Given the description of an element on the screen output the (x, y) to click on. 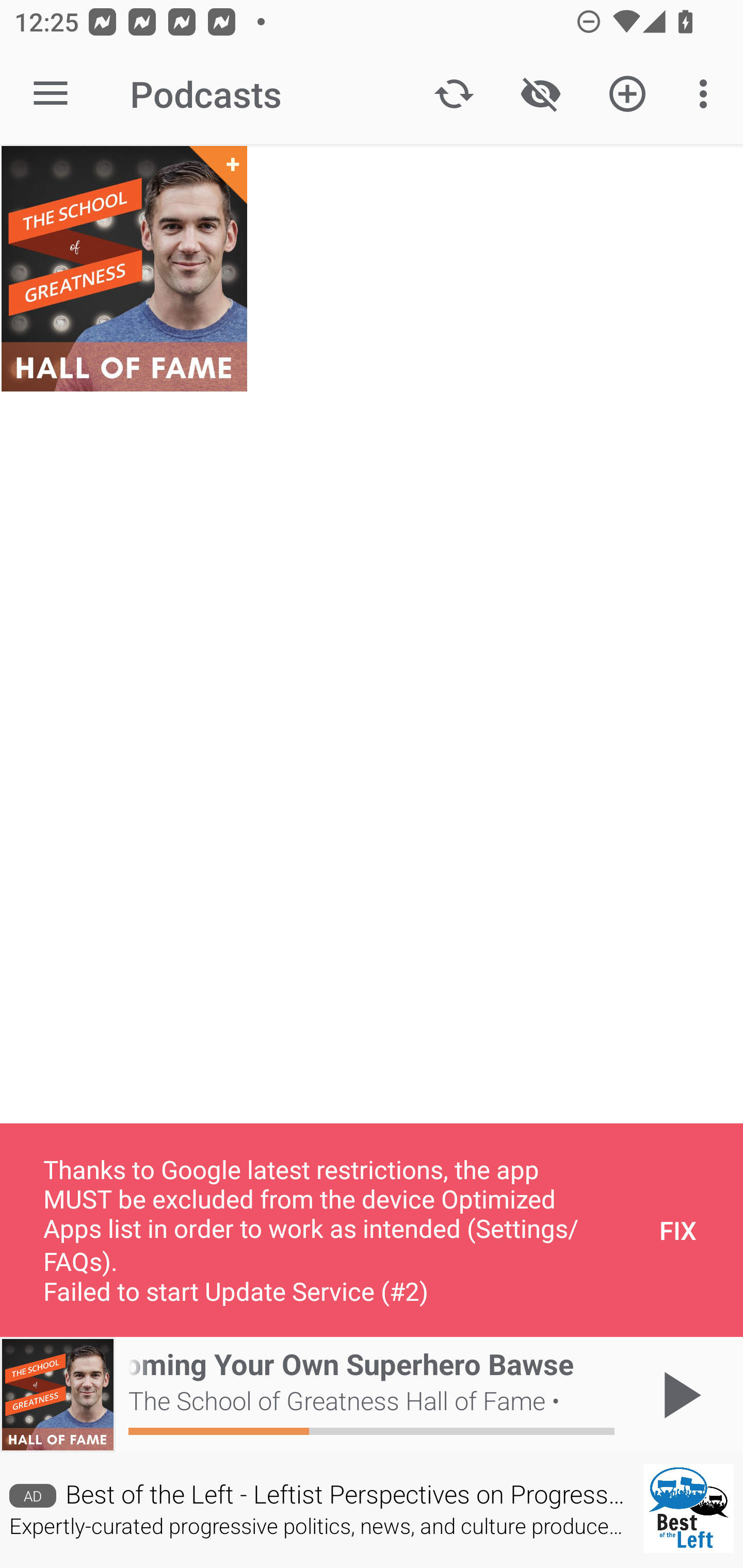
Open navigation sidebar (50, 93)
Update (453, 93)
Show / Hide played content (540, 93)
Add new Podcast (626, 93)
More options (706, 93)
The School of Greatness Hall of Fame + (124, 268)
FIX (677, 1229)
Play / Pause (677, 1394)
